Given the description of an element on the screen output the (x, y) to click on. 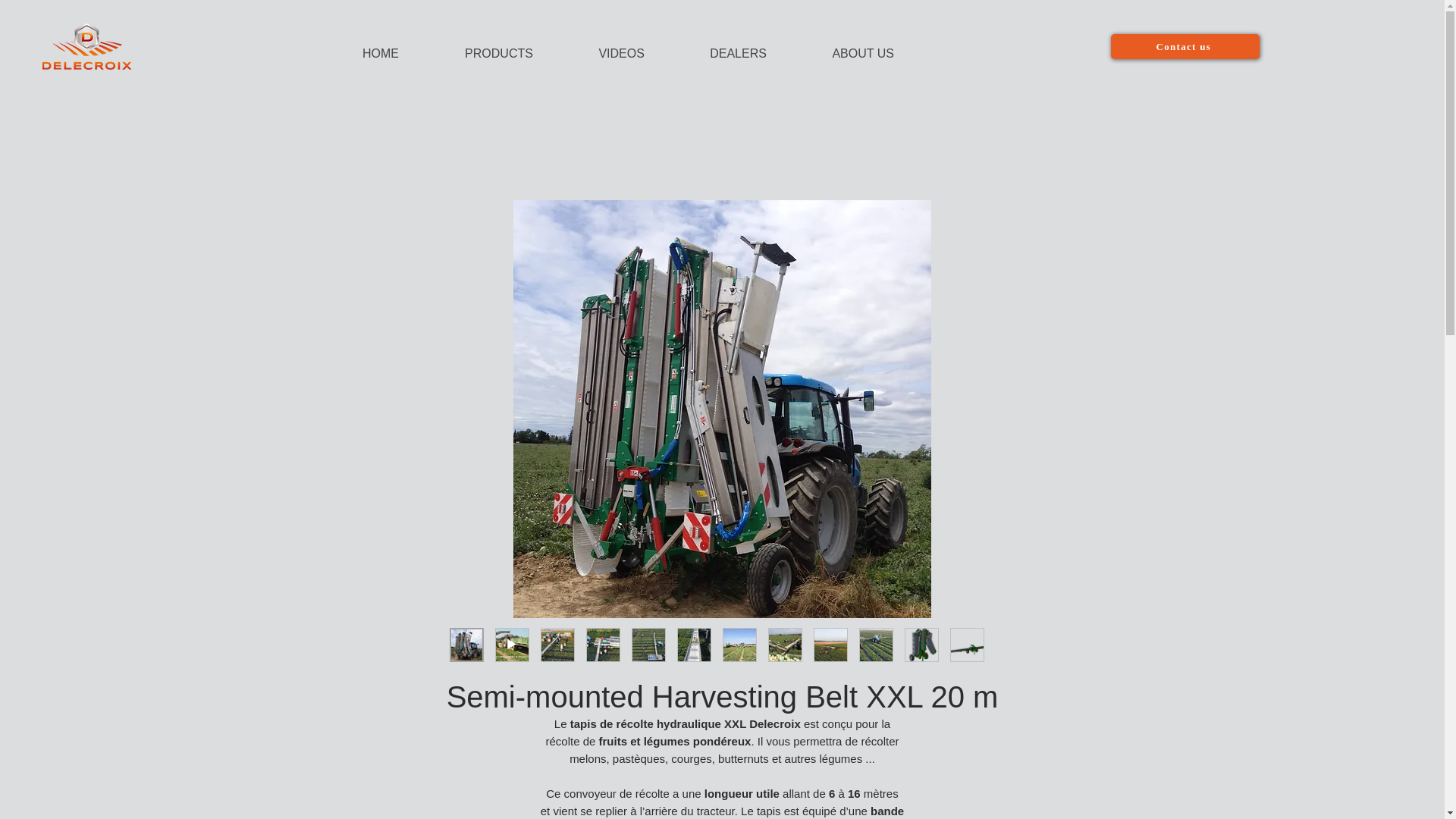
PRODUCTS (479, 46)
Contact us (1184, 46)
DEALERS (719, 46)
VIDEOS (602, 46)
HOME (360, 46)
ABOUT US (843, 46)
